Given the description of an element on the screen output the (x, y) to click on. 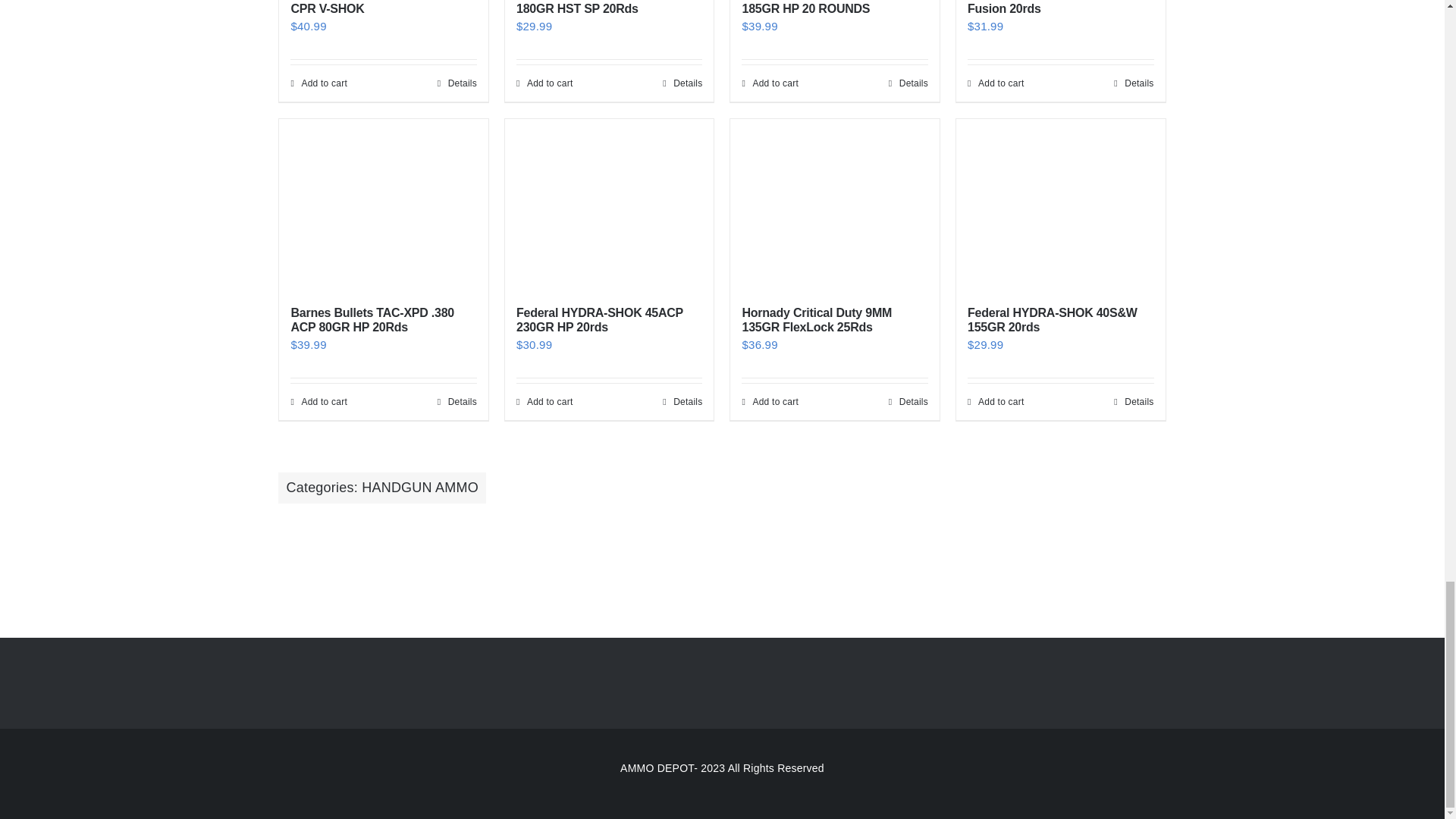
Details (457, 83)
Add to cart (318, 83)
Federal Premium HST .40 SW 180GR HST SP 20Rds (598, 7)
Details (908, 83)
Add to cart (769, 83)
Details (1133, 83)
Barnes Bullets TAC-XPD 45ACP 185GR HP 20 ROUNDS (830, 7)
Add to cart (544, 83)
Add to cart (996, 83)
Details (681, 83)
